Given the description of an element on the screen output the (x, y) to click on. 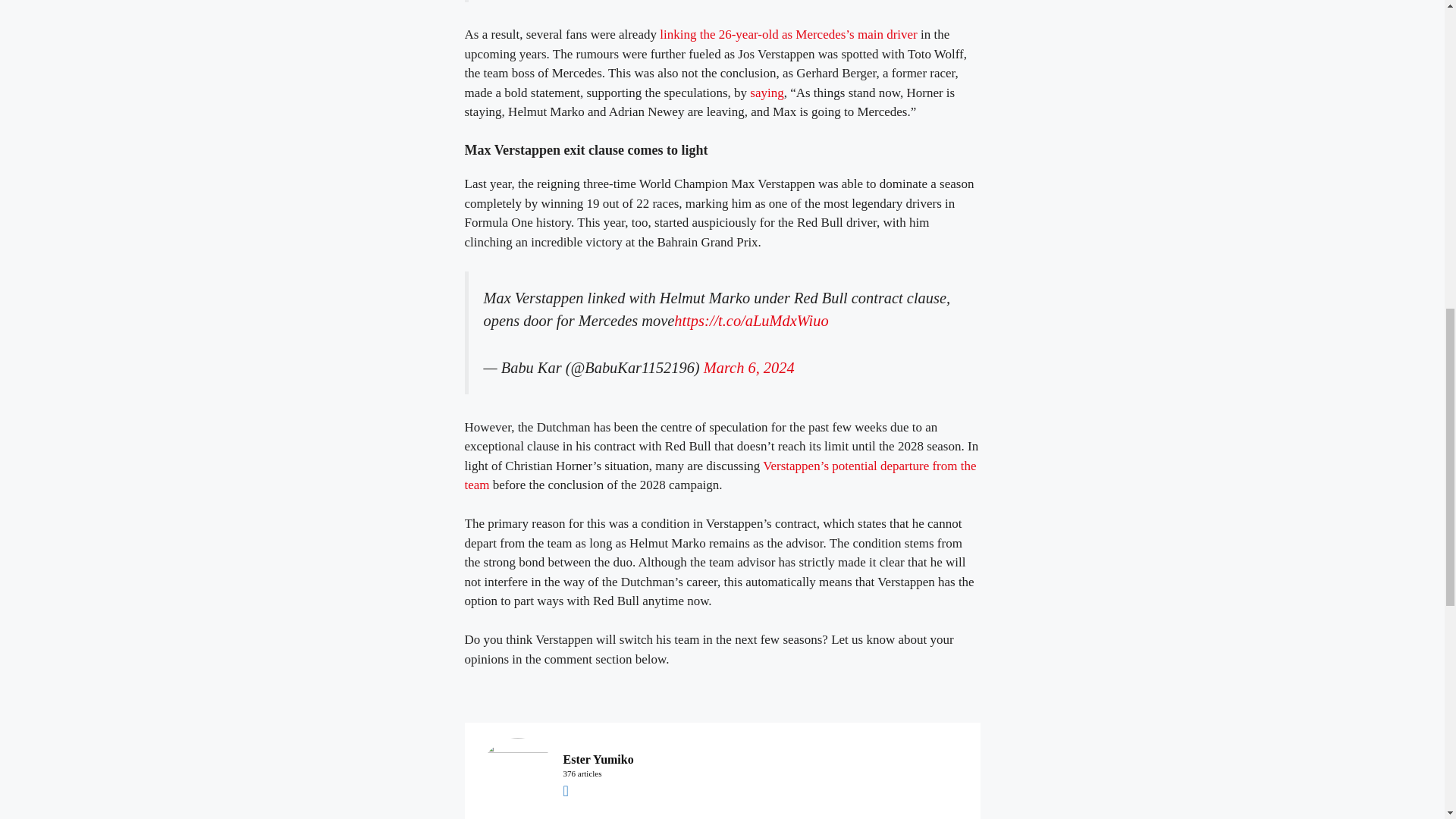
March 6, 2024 (748, 367)
saying (766, 92)
linking t (679, 34)
h (706, 34)
